Given the description of an element on the screen output the (x, y) to click on. 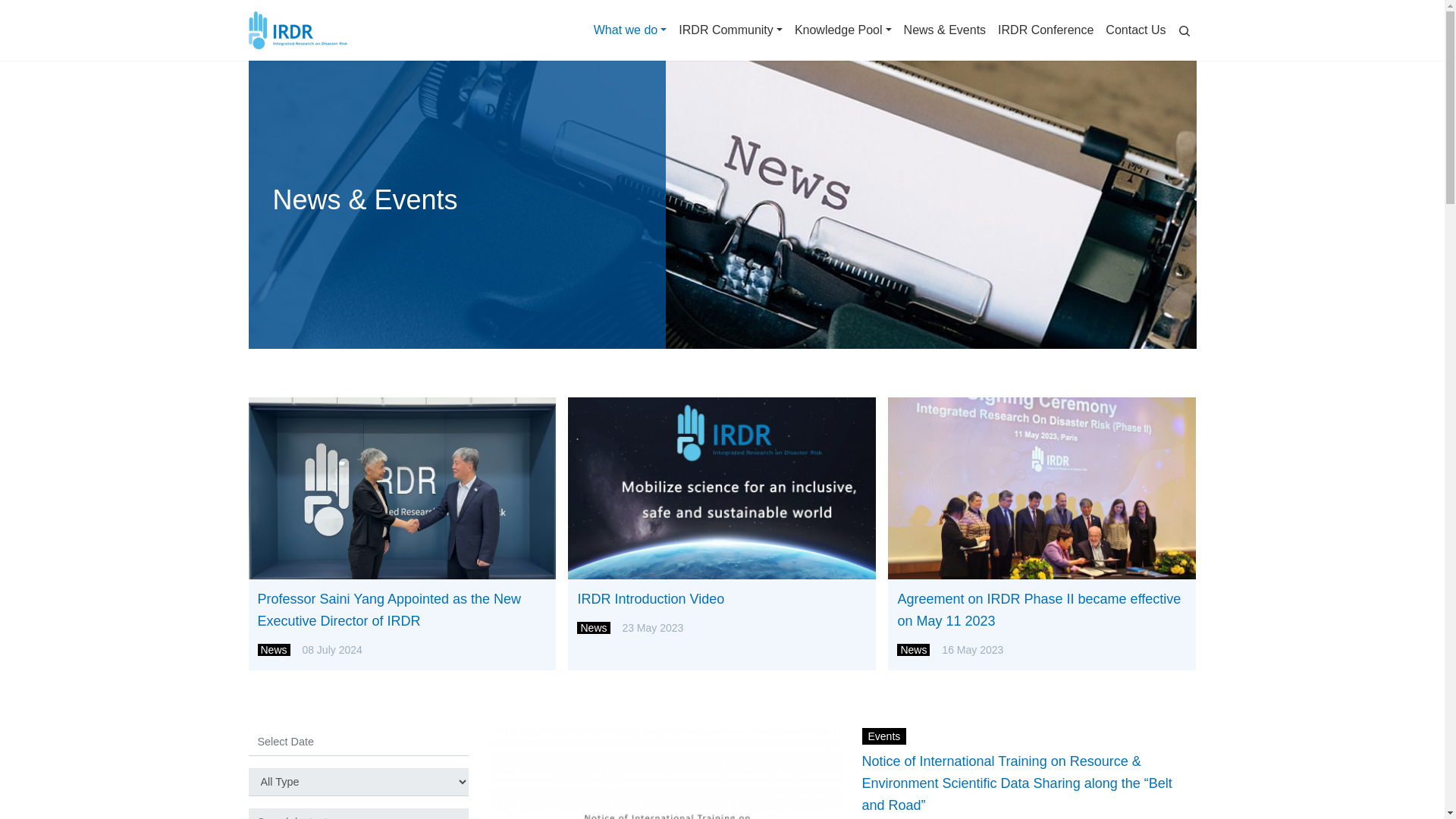
Agreement on IRDR Phase II became effective on May 11 2023 (1041, 610)
IRDR Community (730, 29)
Contact Us (1135, 29)
What we do (630, 29)
IRDR Conference (1045, 29)
Knowledge Pool (843, 29)
IRDR Introduction Video (721, 599)
